Given the description of an element on the screen output the (x, y) to click on. 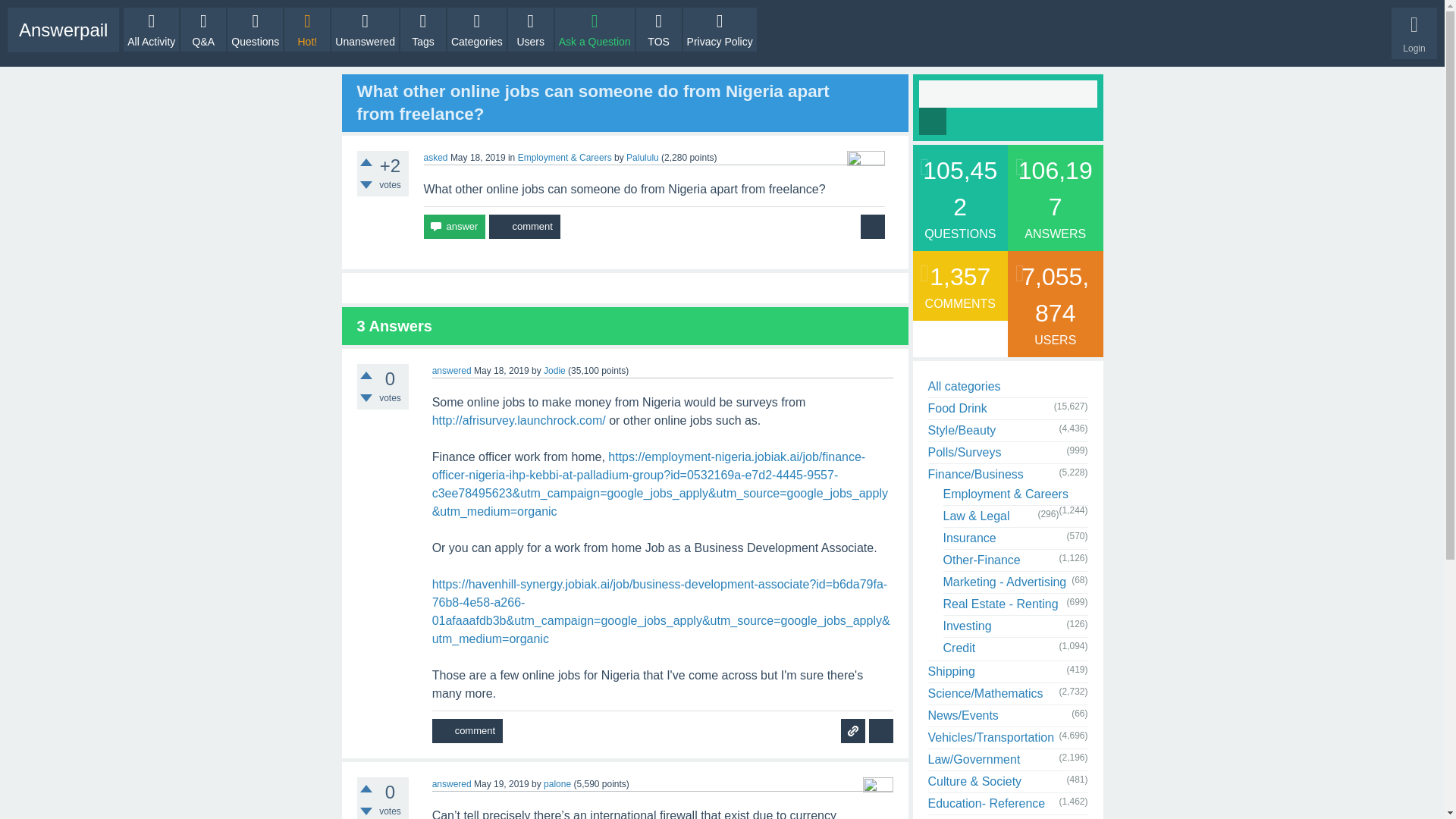
Ask a Question (594, 29)
Answer this question (453, 226)
comment (467, 730)
answer (453, 226)
flag (872, 226)
Hot! (306, 29)
Click to vote up (365, 788)
Add a comment on this question (524, 226)
flag (872, 226)
